Given the description of an element on the screen output the (x, y) to click on. 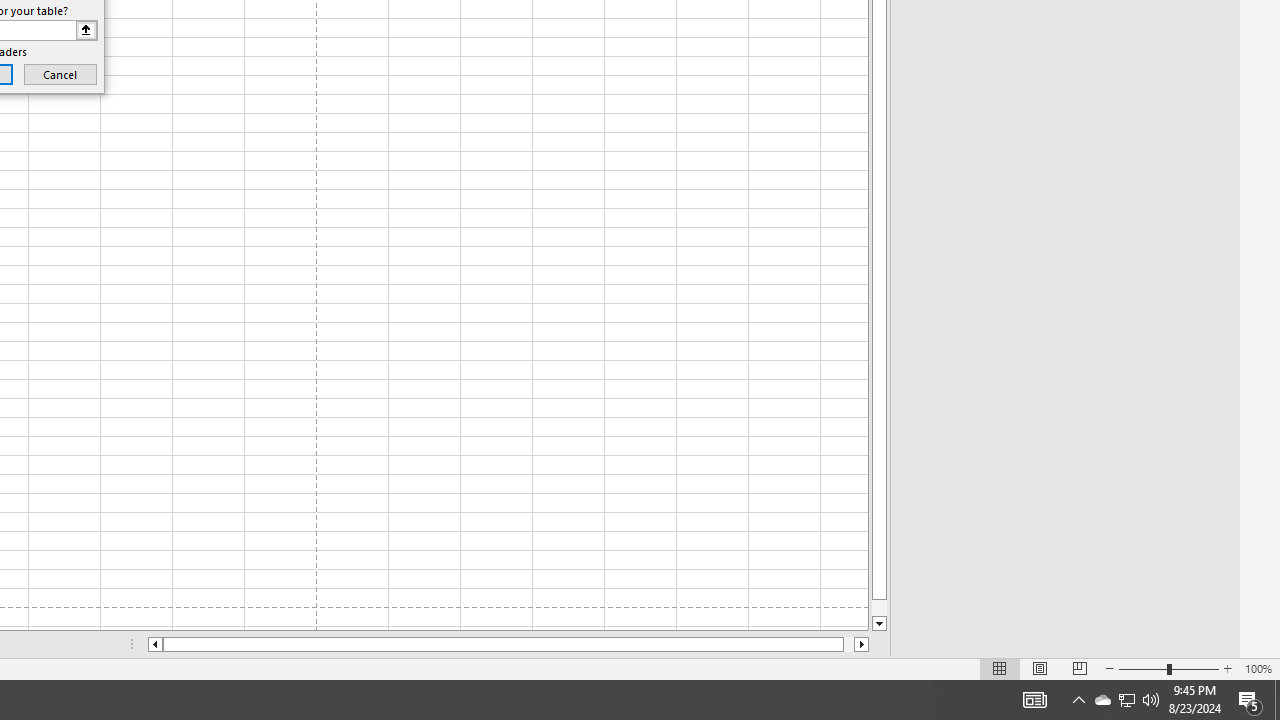
Zoom In (1227, 668)
Column left (153, 644)
Normal (1000, 668)
Zoom (1168, 668)
Page down (879, 607)
Zoom Out (1142, 668)
Page Break Preview (1079, 668)
Column right (861, 644)
Line down (879, 624)
Class: NetUIScrollBar (507, 644)
Page right (848, 644)
Page Layout (1039, 668)
